Given the description of an element on the screen output the (x, y) to click on. 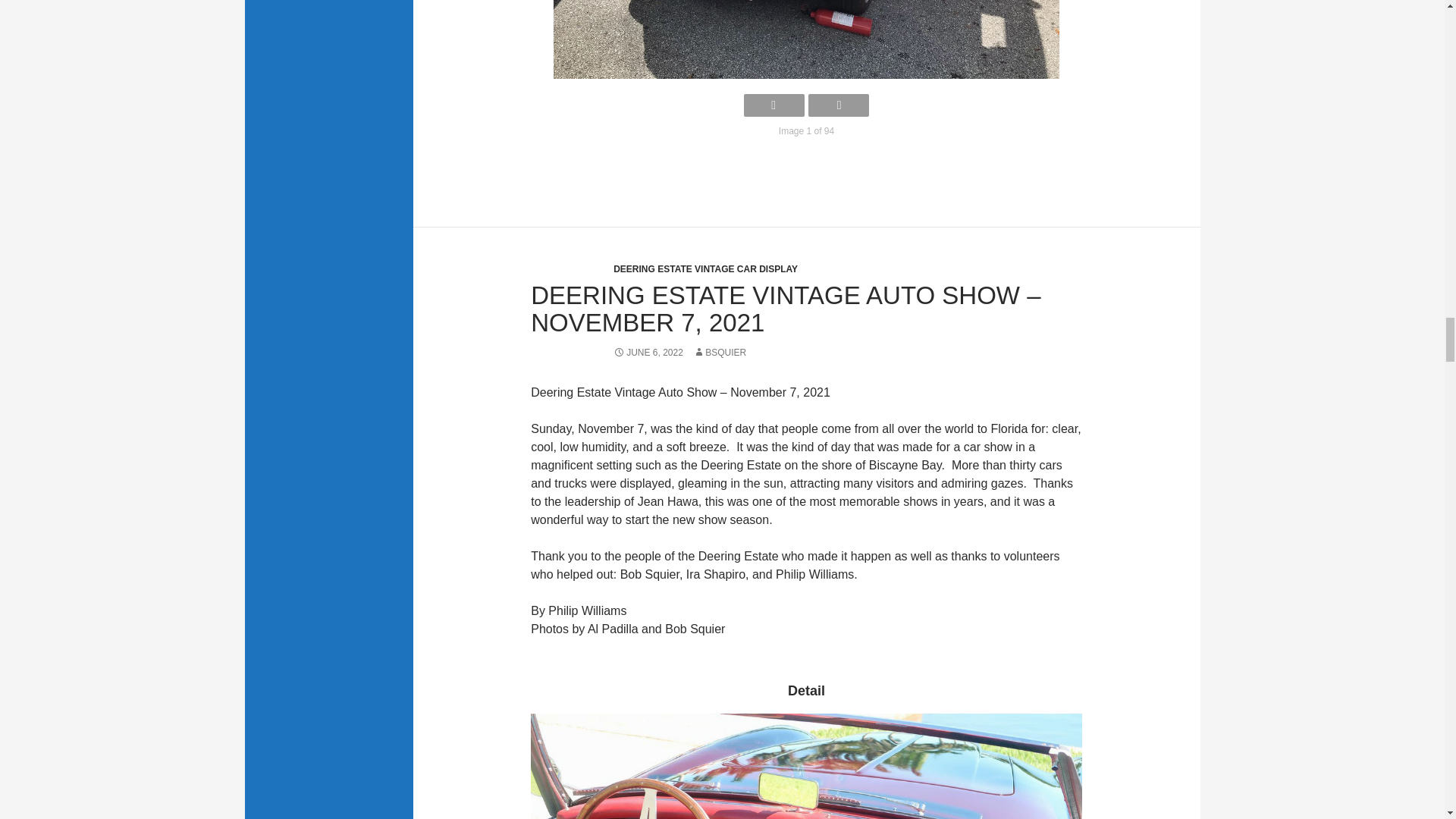
1975 Mini Cooper S (806, 39)
